Given the description of an element on the screen output the (x, y) to click on. 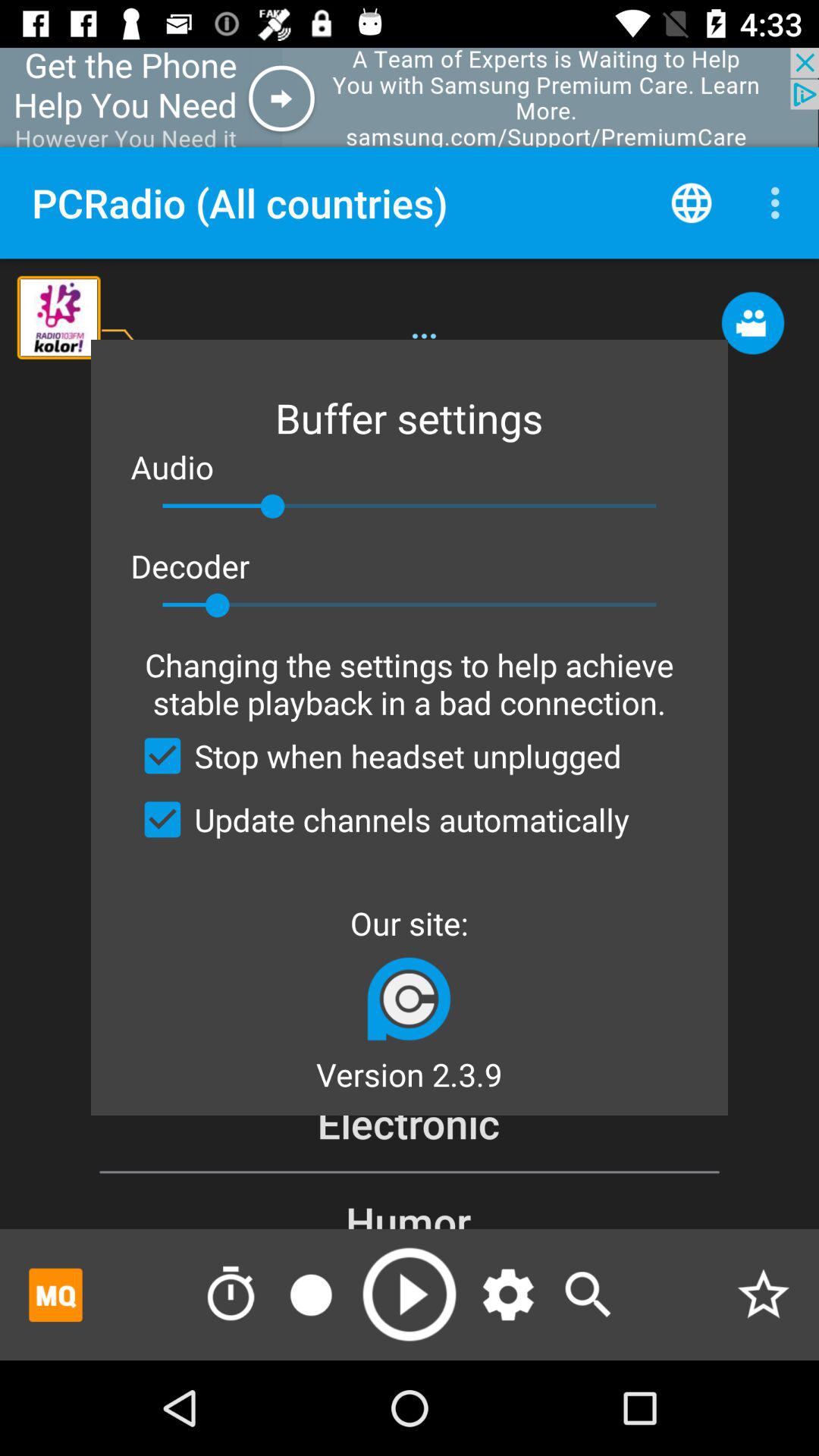
jump to stop when headset item (375, 755)
